Given the description of an element on the screen output the (x, y) to click on. 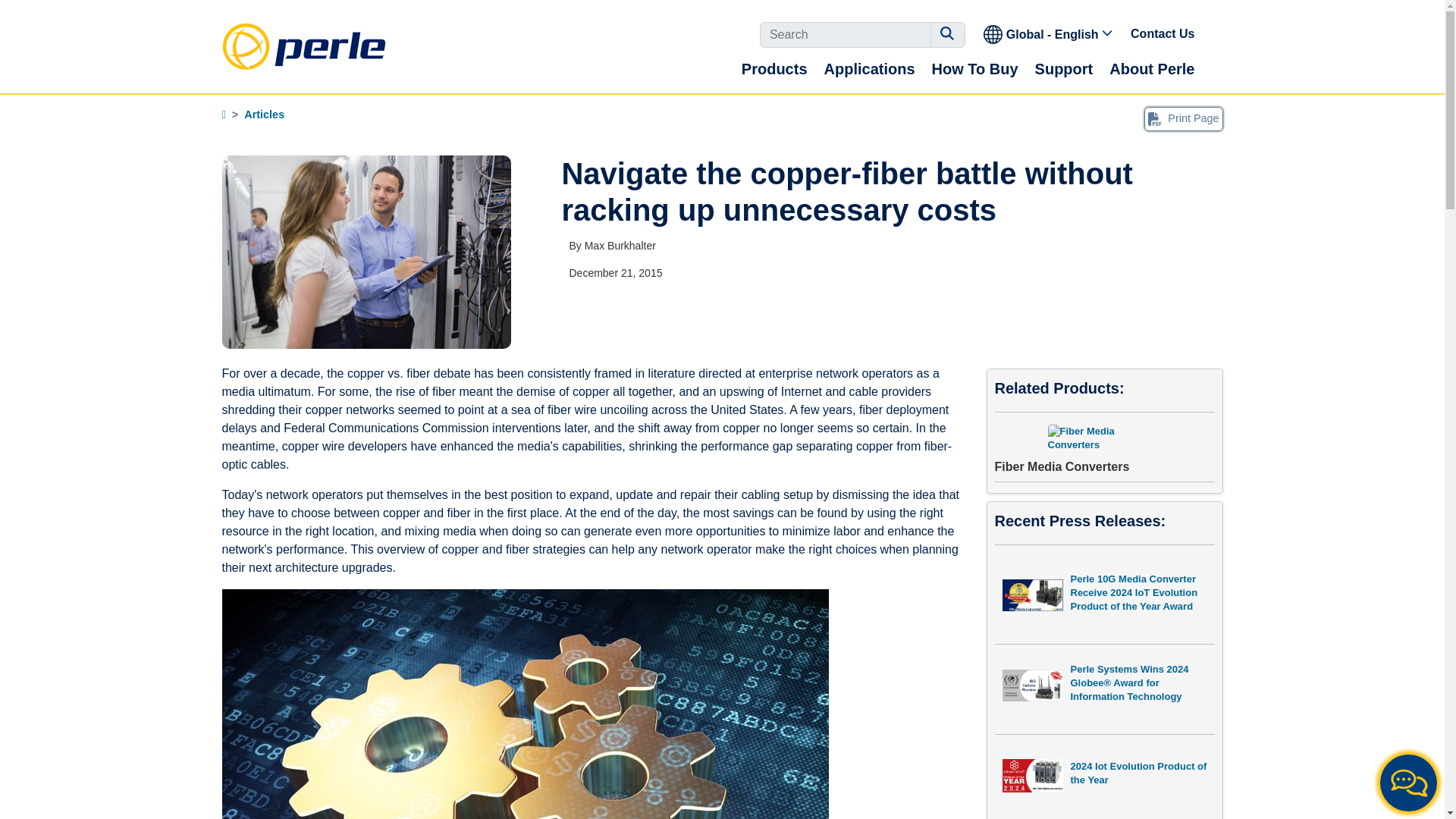
Articles (263, 114)
Global - English (1048, 34)
Articles (263, 114)
Perle Logo (303, 46)
2024 Iot Evolution Product of the Year (1104, 778)
Print Page (1183, 119)
Fiber Media Converters (1104, 450)
Support (1063, 68)
About Perle (1151, 68)
Applications (868, 68)
